Given the description of an element on the screen output the (x, y) to click on. 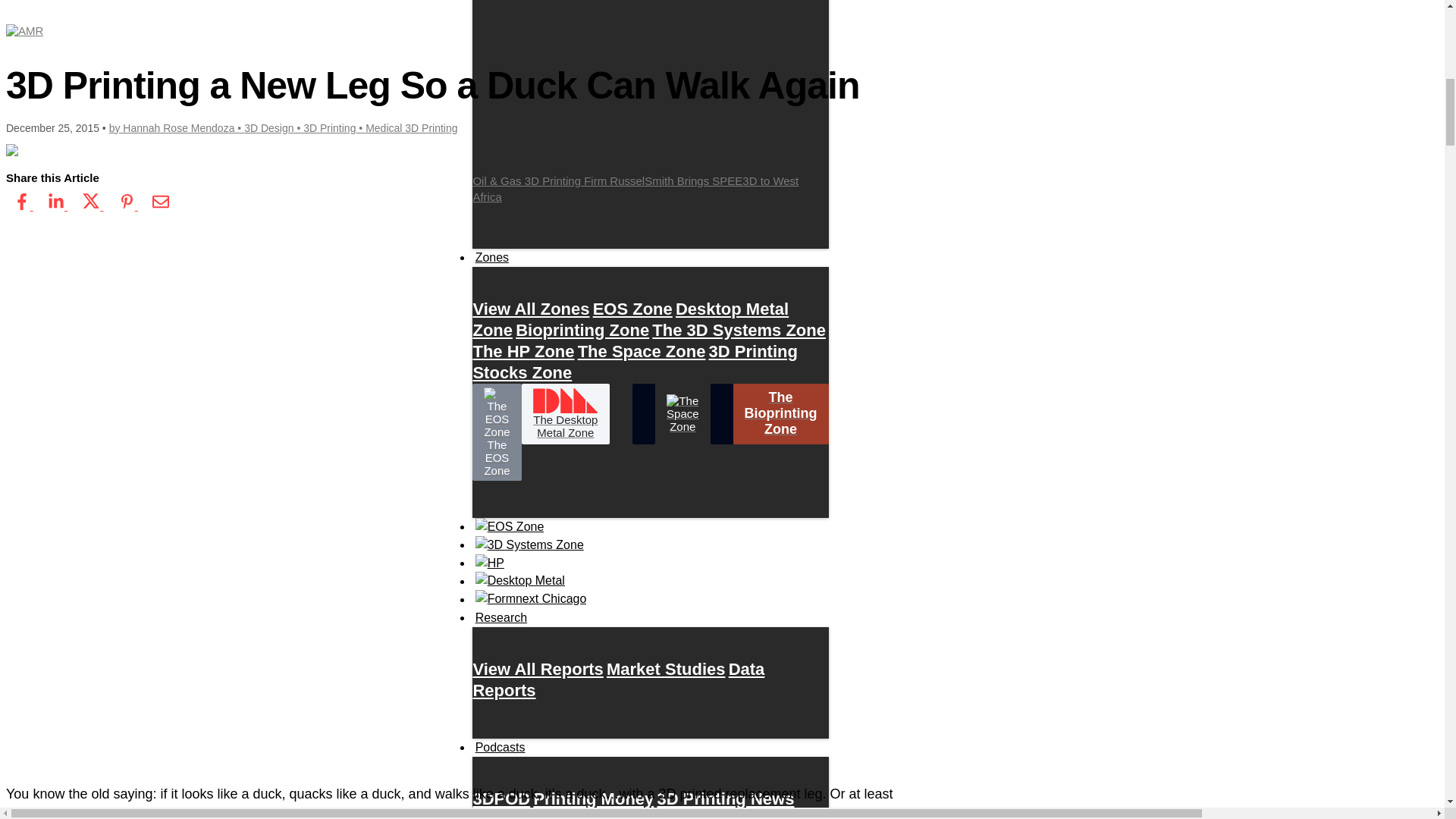
View All Zones (530, 308)
Desktop Metal Zone (630, 318)
Zones (491, 257)
The HP Zone (522, 350)
The Bioprinting Zone (780, 414)
3D Printing Stocks Zone (633, 361)
Bioprinting Zone (582, 329)
The EOS Zone (496, 432)
EOS Zone (632, 308)
The Desktop Metal Zone (565, 414)
The Space Zone (642, 350)
The 3D Systems Zone (738, 329)
